Given the description of an element on the screen output the (x, y) to click on. 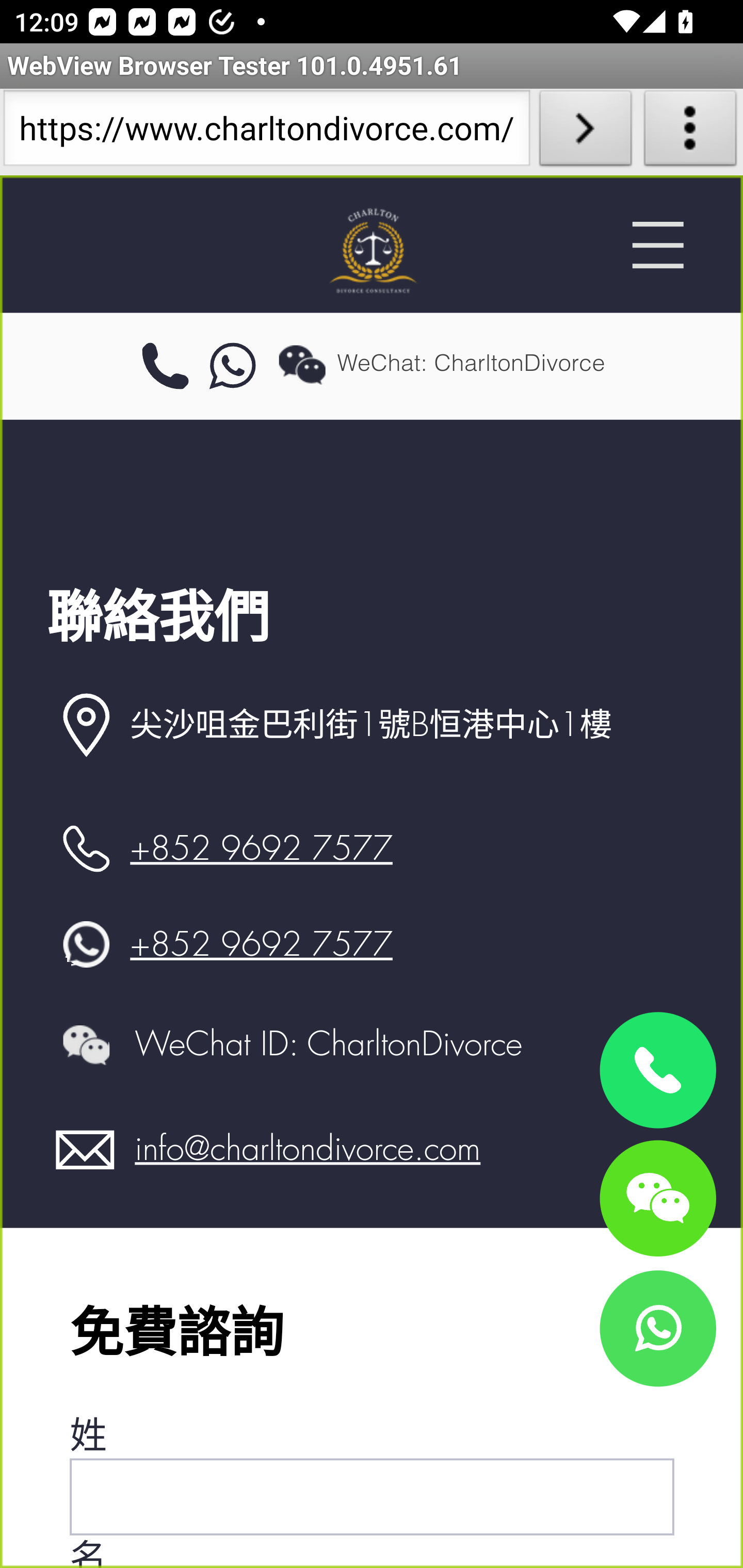
Load URL (585, 132)
About WebView (690, 132)
Open navigation menu (657, 245)
500x500 沒背景.png (371, 249)
tel:+852 9692 7577 (164, 366)
o7rumn (232, 366)
wechat2_edited_edited.png (301, 364)
+852 9692 7577 (261, 848)
+852 9692 7577 (261, 943)
Phone (657, 1070)
wechat2_edited_edited.png (85, 1043)
info@charltondivorce.com (307, 1148)
mailto:info@charltondivorce (85, 1149)
WeChat: CharltonDivorce (657, 1196)
WhatsApp (657, 1327)
